Given the description of an element on the screen output the (x, y) to click on. 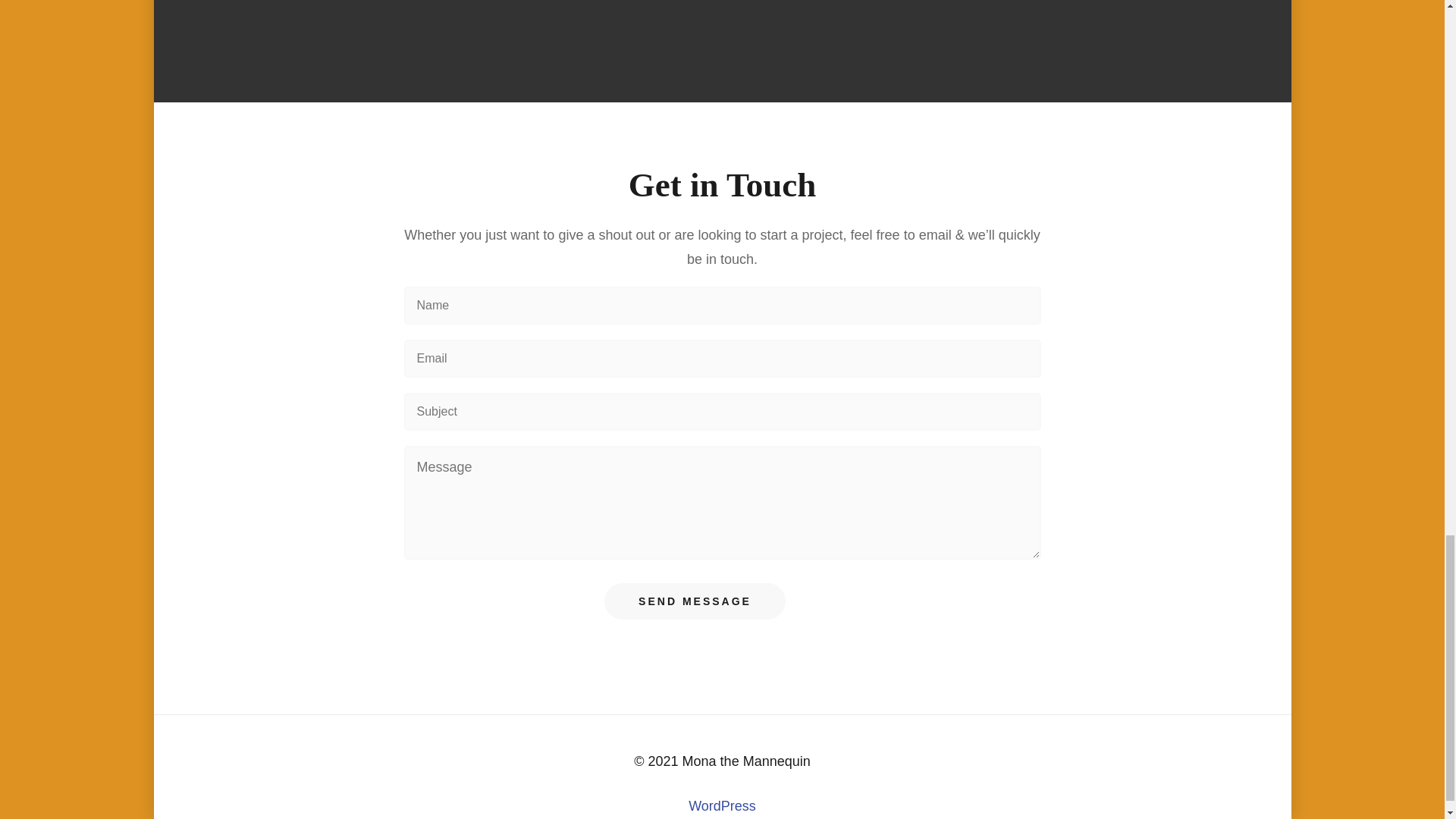
WordPress (721, 806)
Send Message (695, 601)
Send Message (695, 601)
